Given the description of an element on the screen output the (x, y) to click on. 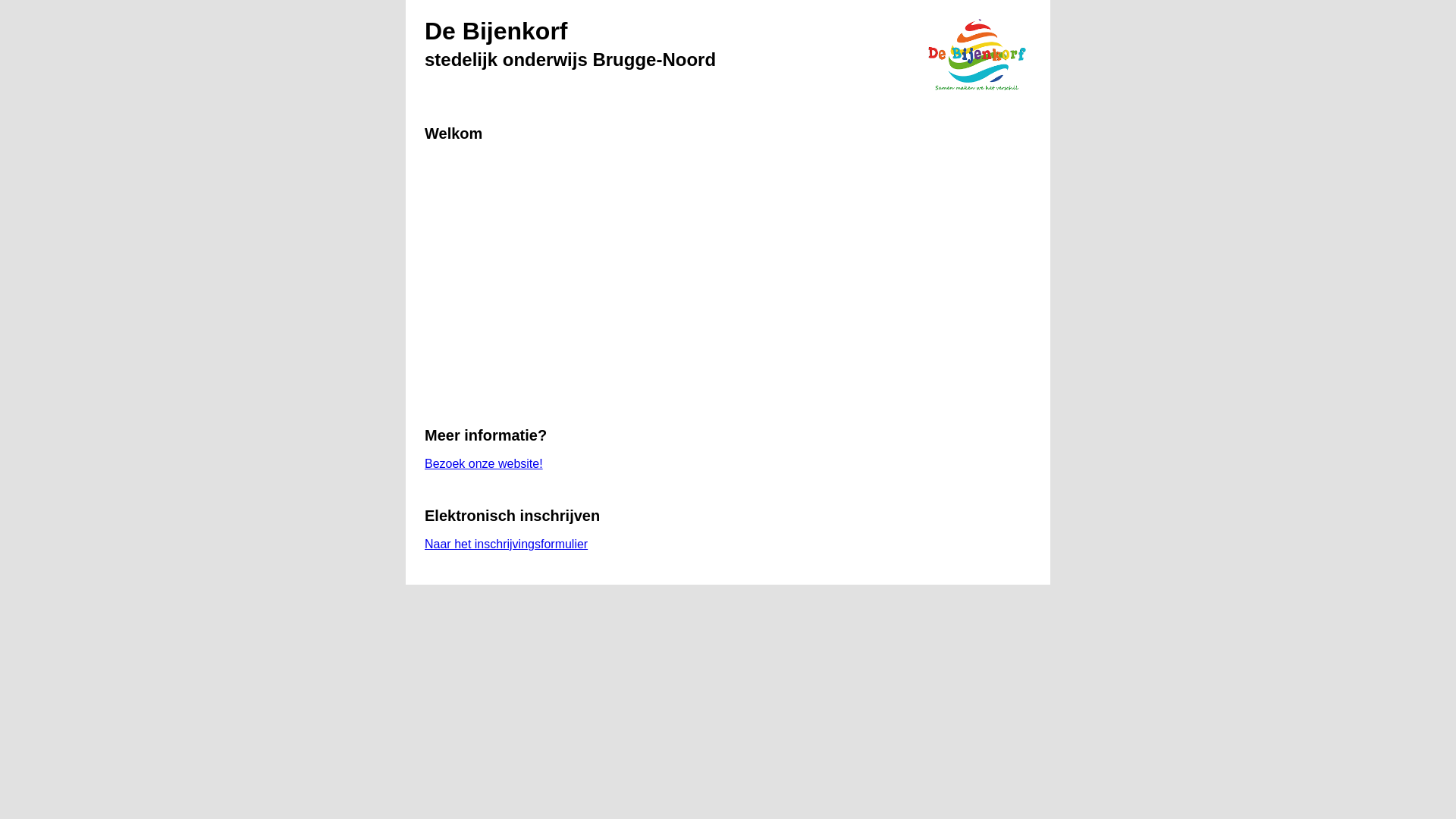
Bezoek onze website! Element type: text (483, 463)
Naar het inschrijvingsformulier Element type: text (505, 543)
